Given the description of an element on the screen output the (x, y) to click on. 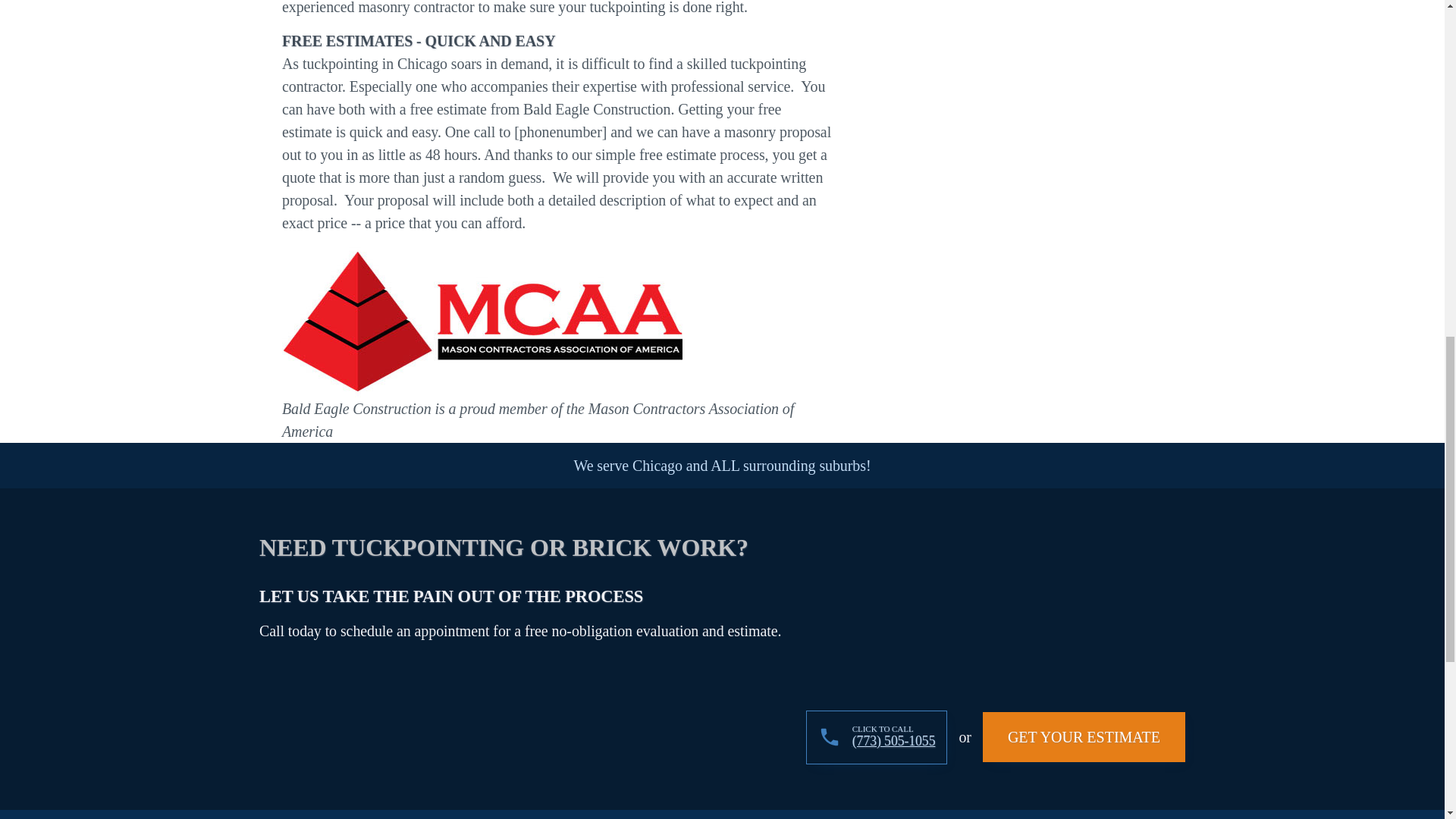
GET YOUR ESTIMATE (1083, 736)
free estimate process (702, 154)
